Given the description of an element on the screen output the (x, y) to click on. 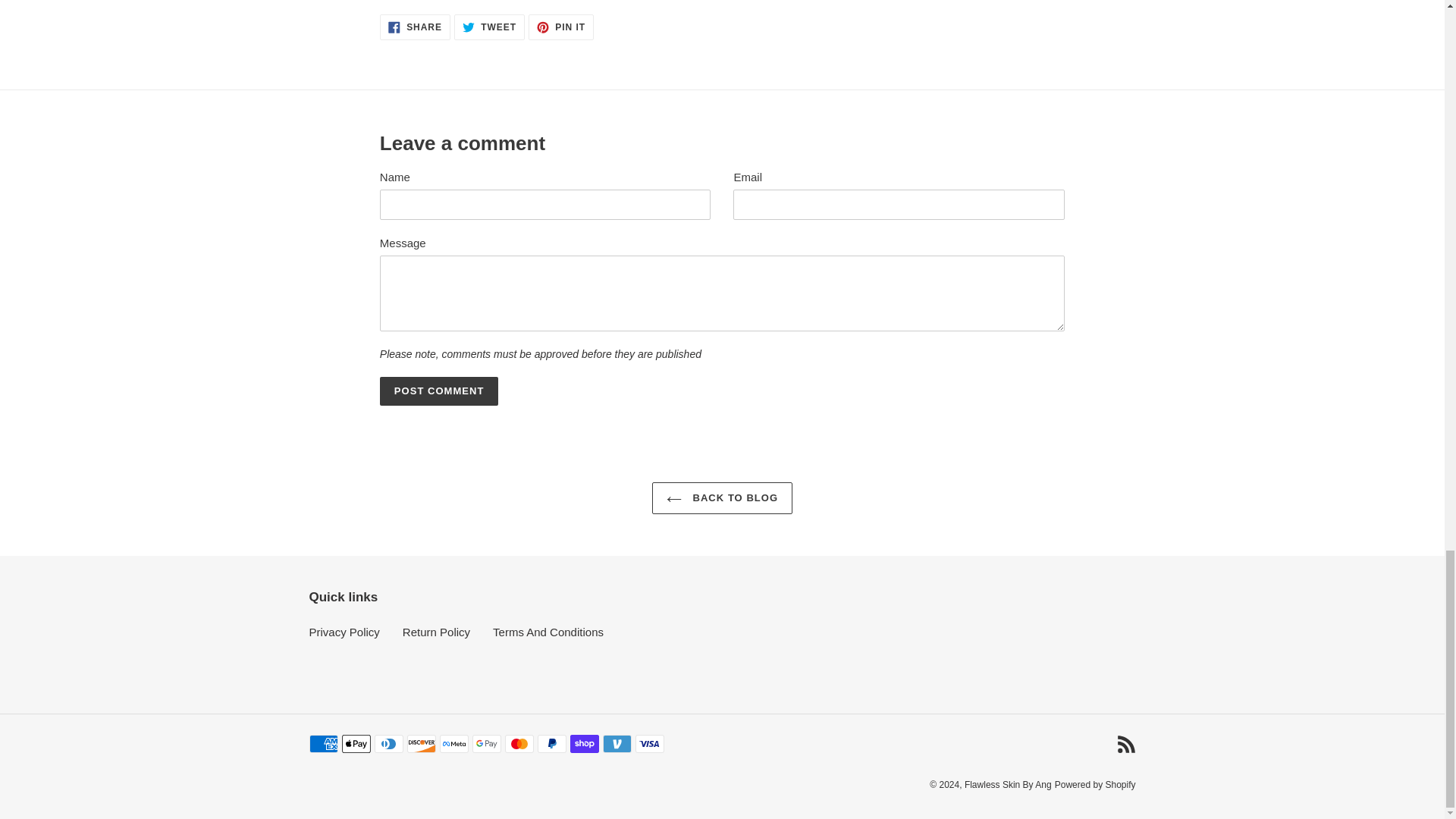
Post comment (439, 390)
Flawless Skin By Ang (1007, 784)
Privacy Policy (344, 631)
Return Policy (561, 27)
RSS (489, 27)
Post comment (436, 631)
BACK TO BLOG (1125, 743)
Powered by Shopify (439, 390)
